Given the description of an element on the screen output the (x, y) to click on. 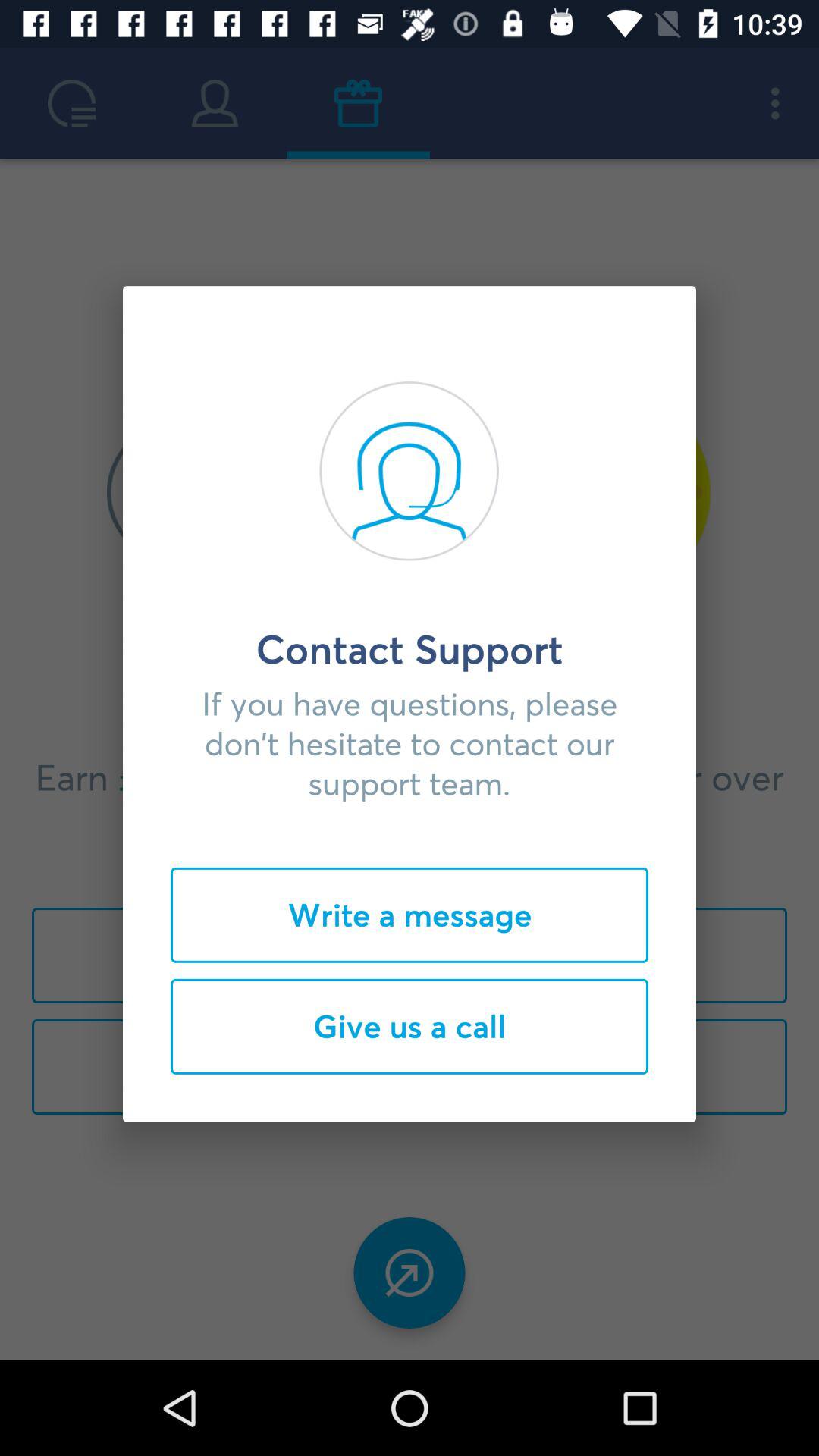
jump to the write a message (409, 914)
